Given the description of an element on the screen output the (x, y) to click on. 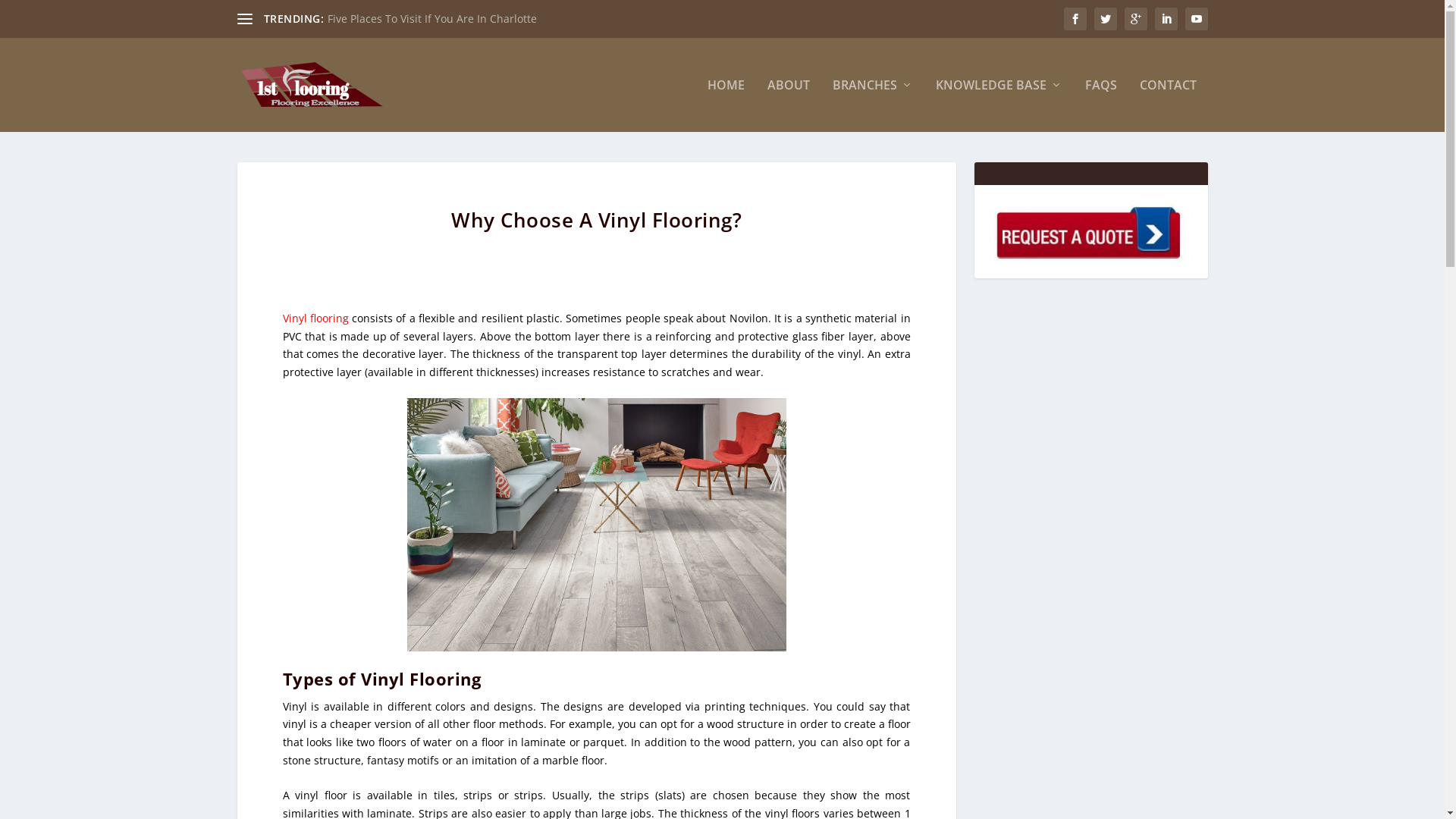
ABOUT Element type: text (788, 104)
Five Places To Visit If You Are In Charlotte Element type: text (431, 18)
Vinyl flooring Element type: text (315, 317)
HOME Element type: text (724, 104)
CONTACT Element type: text (1167, 104)
FAQS Element type: text (1100, 104)
BRANCHES Element type: text (872, 104)
KNOWLEDGE BASE Element type: text (998, 104)
